Given the description of an element on the screen output the (x, y) to click on. 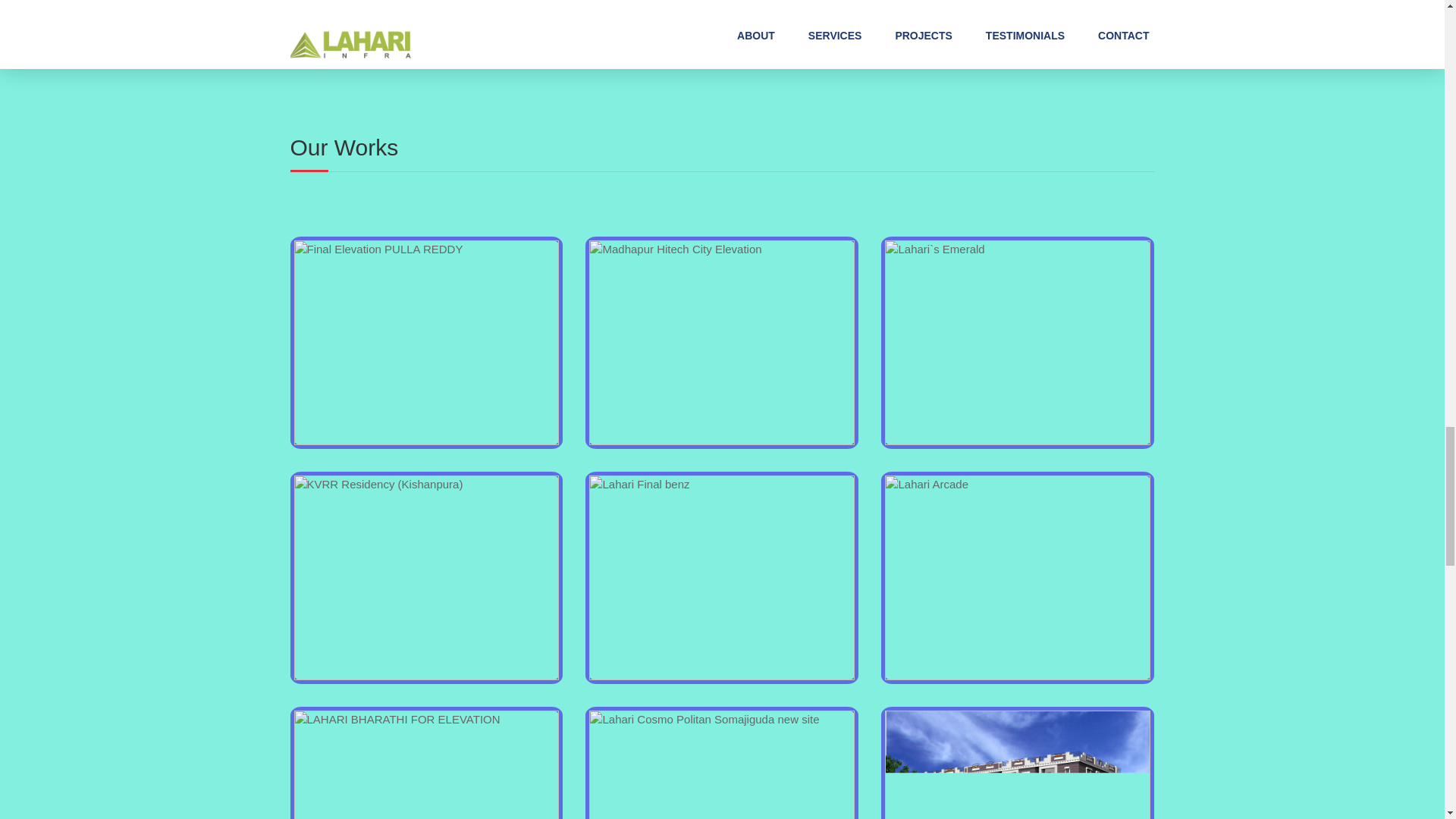
LAHARI BHARATHI FOR ELEVATION (426, 764)
Lahari Arcade (1017, 577)
Final Elevation PULLA REDDY (426, 342)
Lahari Cosmo Politan Somajiguda new site (721, 764)
Madhapur Hitech City Elevation (721, 342)
Lahari Final benz (721, 577)
